Given the description of an element on the screen output the (x, y) to click on. 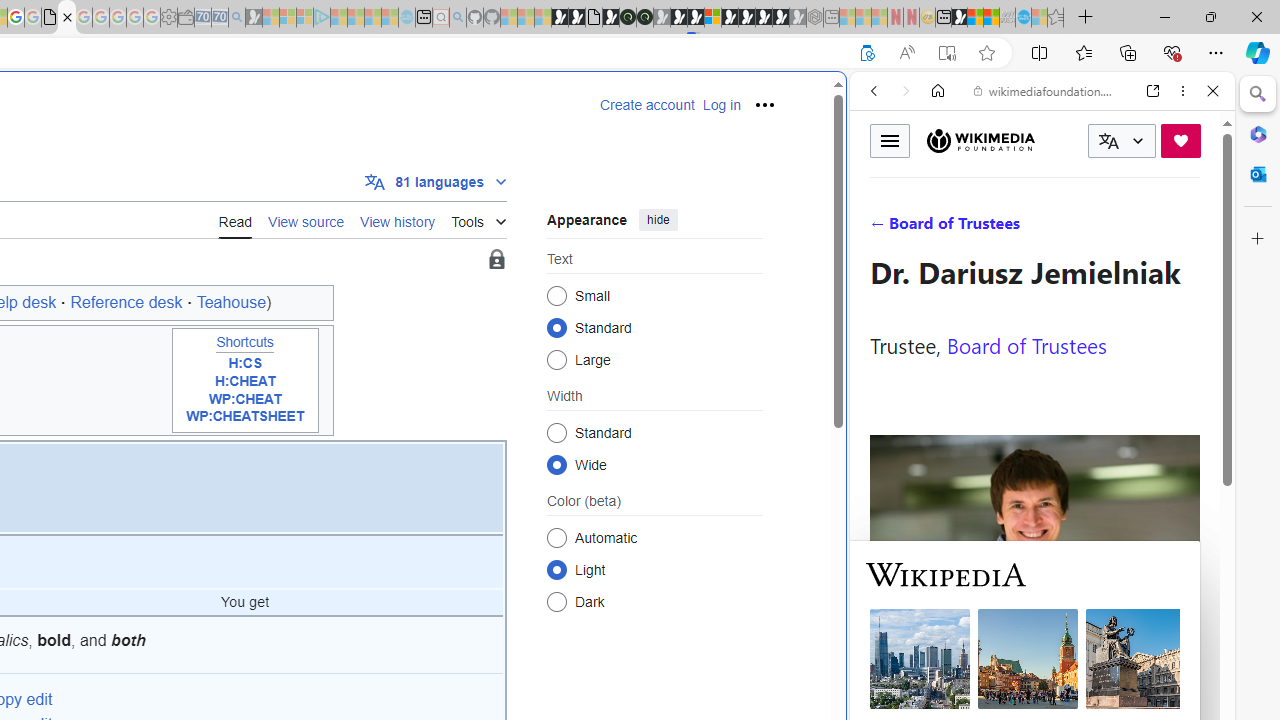
View source (306, 219)
Teahouse) (233, 302)
Page semi-protected (496, 259)
Play Cave FRVR in your browser | Games from Microsoft Start (678, 17)
Wiktionary (1034, 669)
Automatic (556, 537)
Personal tools (764, 104)
